Given the description of an element on the screen output the (x, y) to click on. 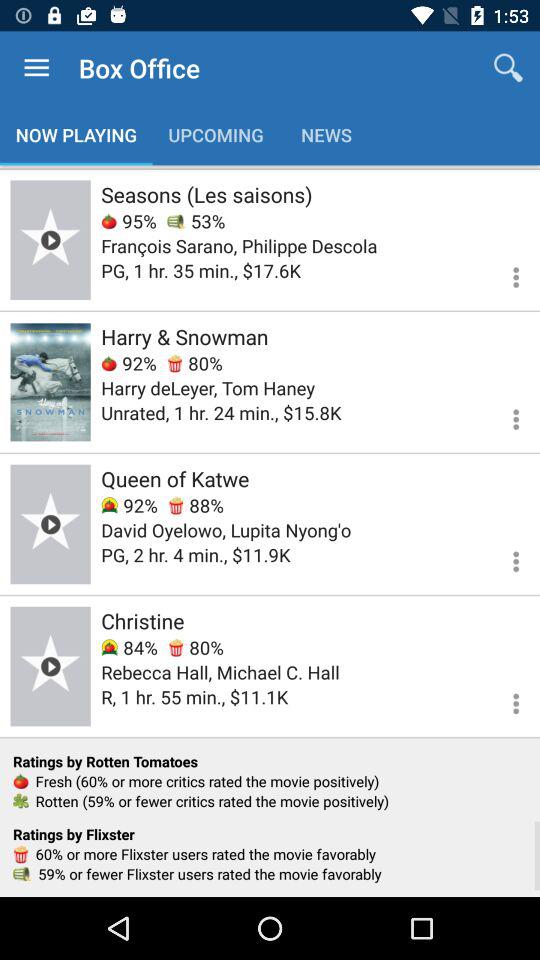
see more information (503, 416)
